Given the description of an element on the screen output the (x, y) to click on. 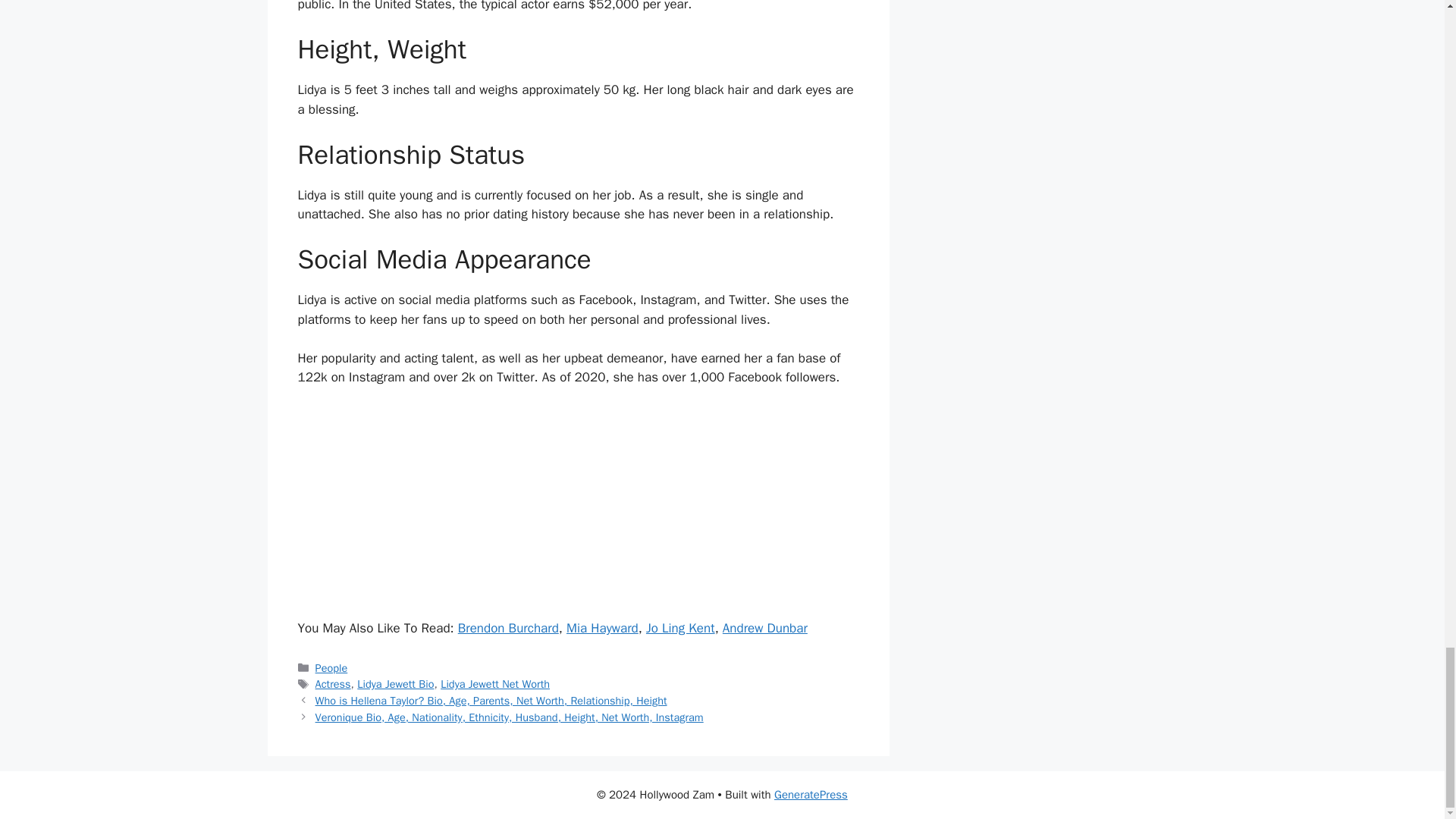
Actress (332, 684)
People (331, 667)
Mia Hayward (602, 627)
Andrew Dunbar (765, 627)
Lidya Jewett Net Worth (495, 684)
Lidya Jewett Bio (394, 684)
Jo Ling Kent (680, 627)
Brendon Burchard (508, 627)
GeneratePress (810, 794)
